Given the description of an element on the screen output the (x, y) to click on. 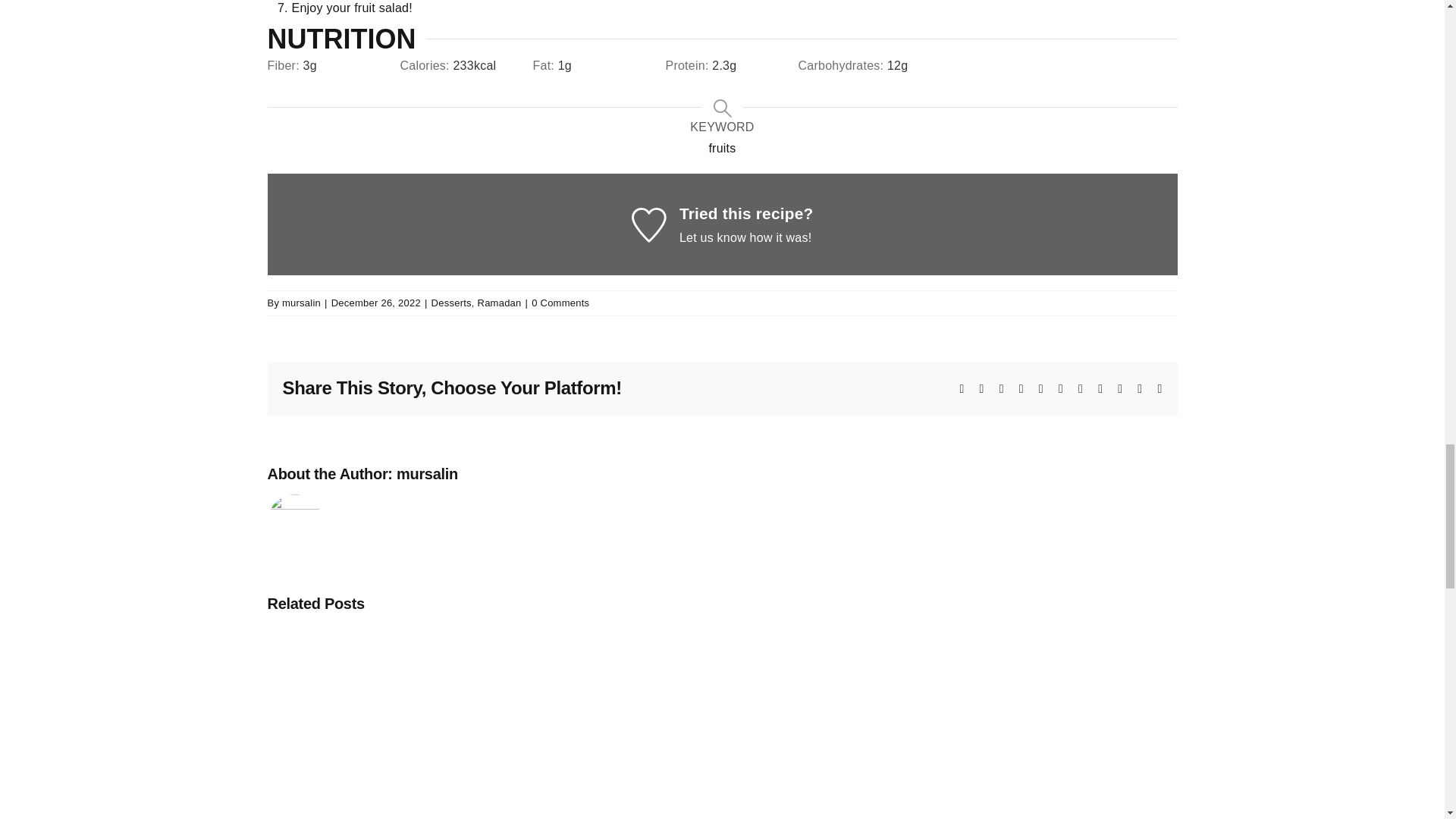
Desserts (450, 302)
mursalin (427, 474)
Posts by mursalin (427, 474)
0 Comments (560, 302)
Posts by mursalin (301, 302)
Ramadan (499, 302)
mursalin (301, 302)
Let us know (712, 237)
